Given the description of an element on the screen output the (x, y) to click on. 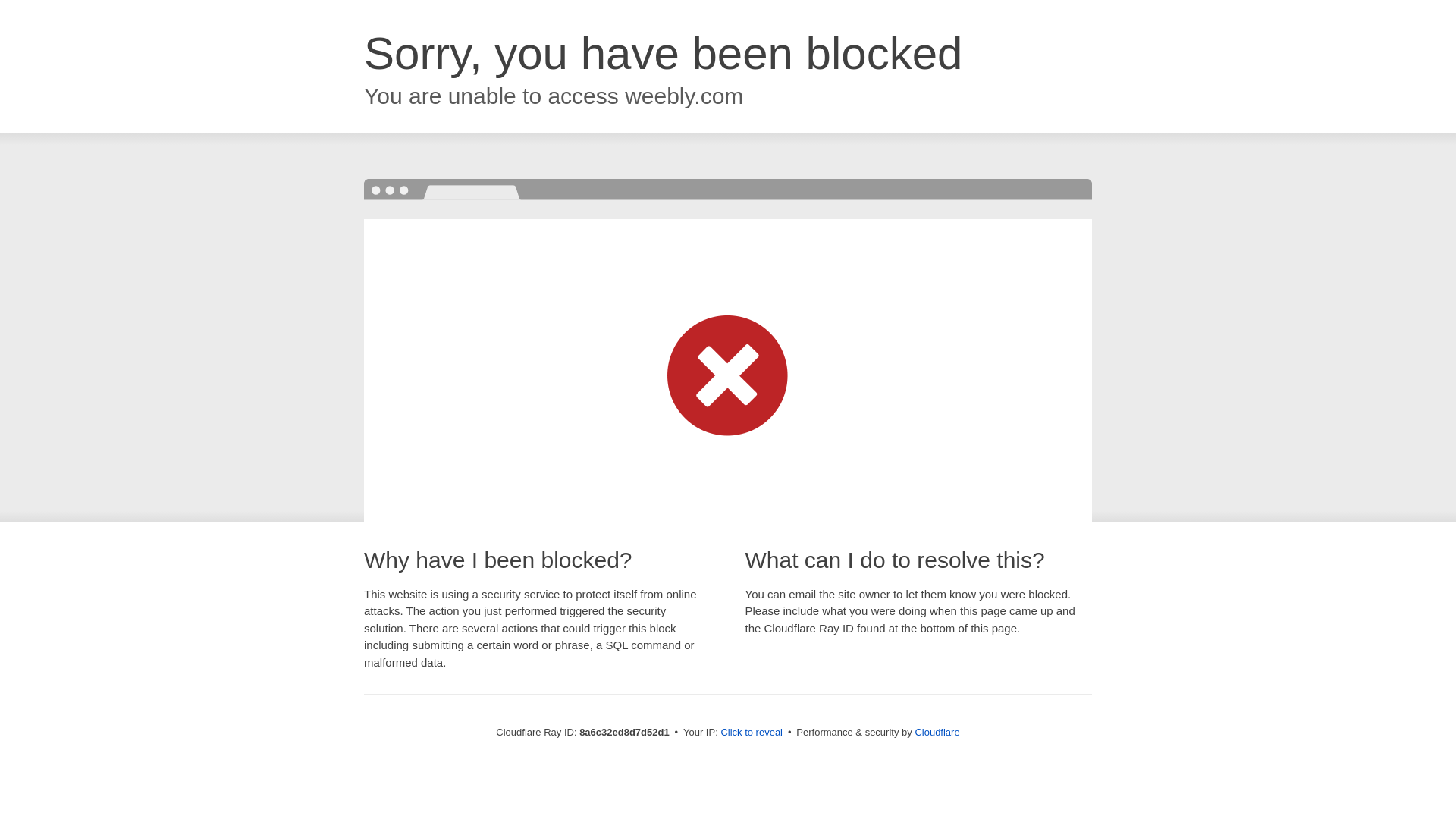
Click to reveal (751, 732)
Cloudflare (936, 731)
